Given the description of an element on the screen output the (x, y) to click on. 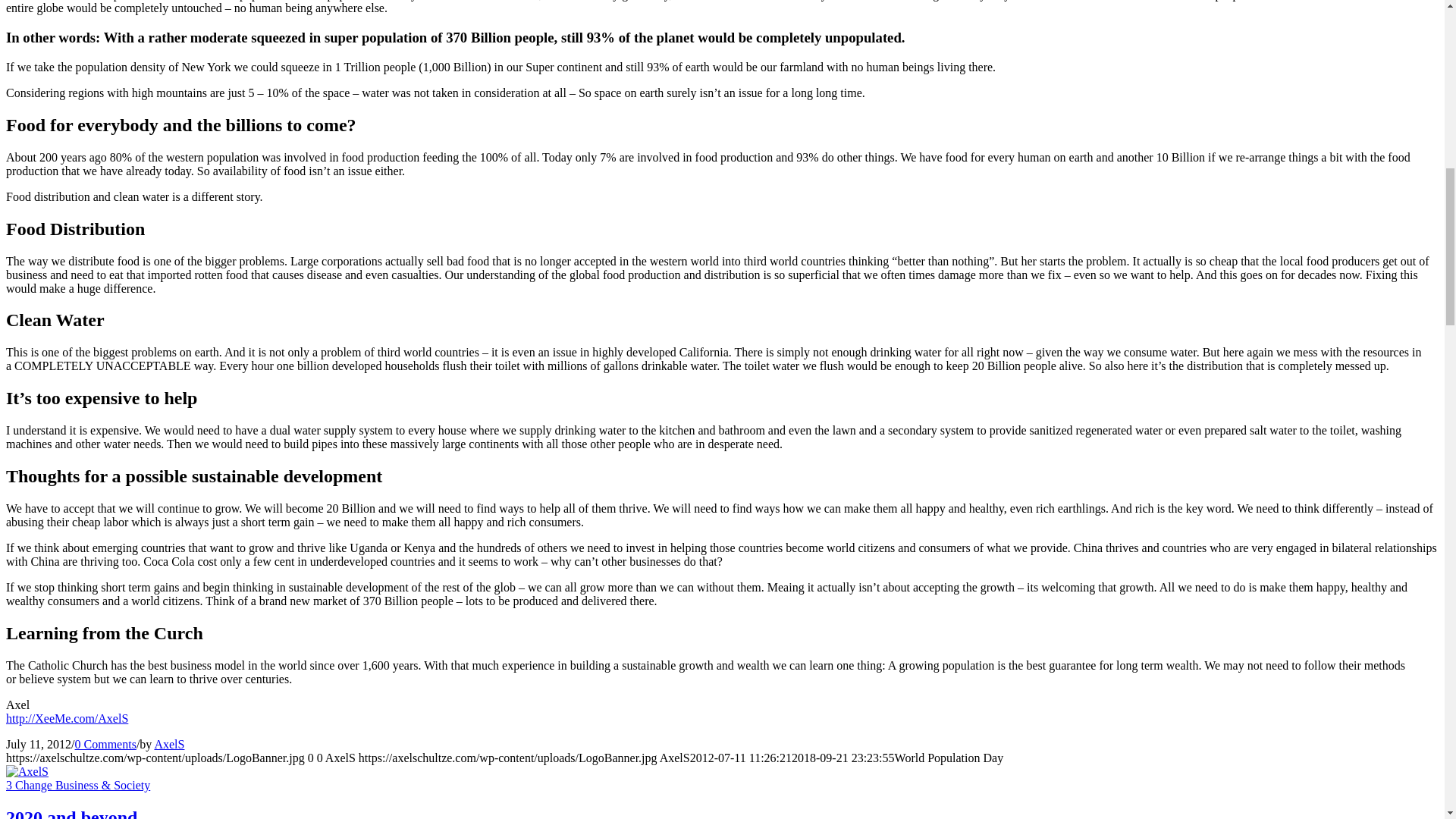
AxelS (169, 744)
Posts by AxelS (169, 744)
Permanent Link: 2020 and beyond (70, 813)
2020 and beyond (70, 813)
0 Comments (105, 744)
